Given the description of an element on the screen output the (x, y) to click on. 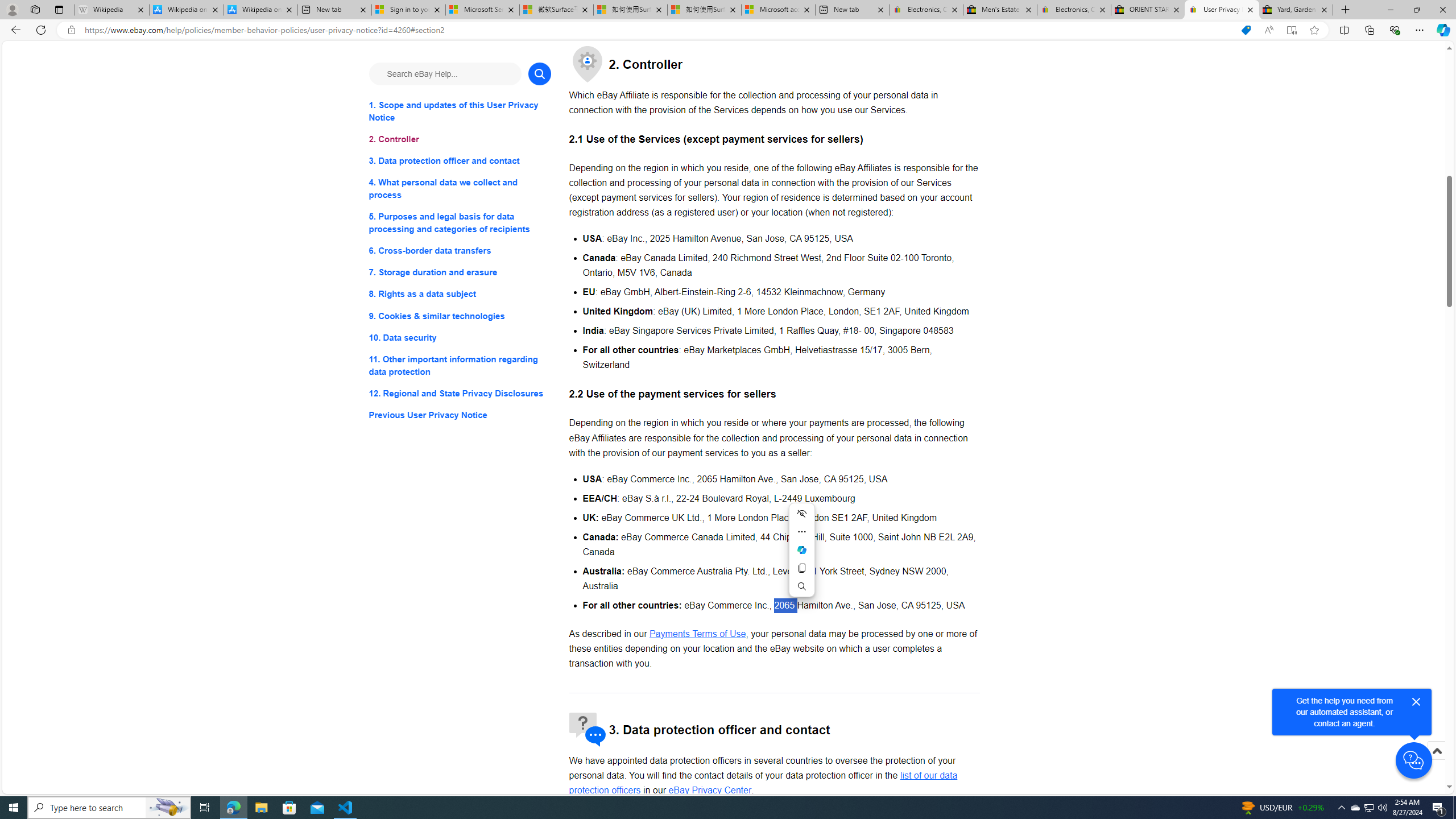
7. Storage duration and erasure (459, 272)
Ask Copilot (801, 549)
2. Controller (459, 138)
3. Data protection officer and contact (459, 160)
4. What personal data we collect and process (459, 189)
